Given the description of an element on the screen output the (x, y) to click on. 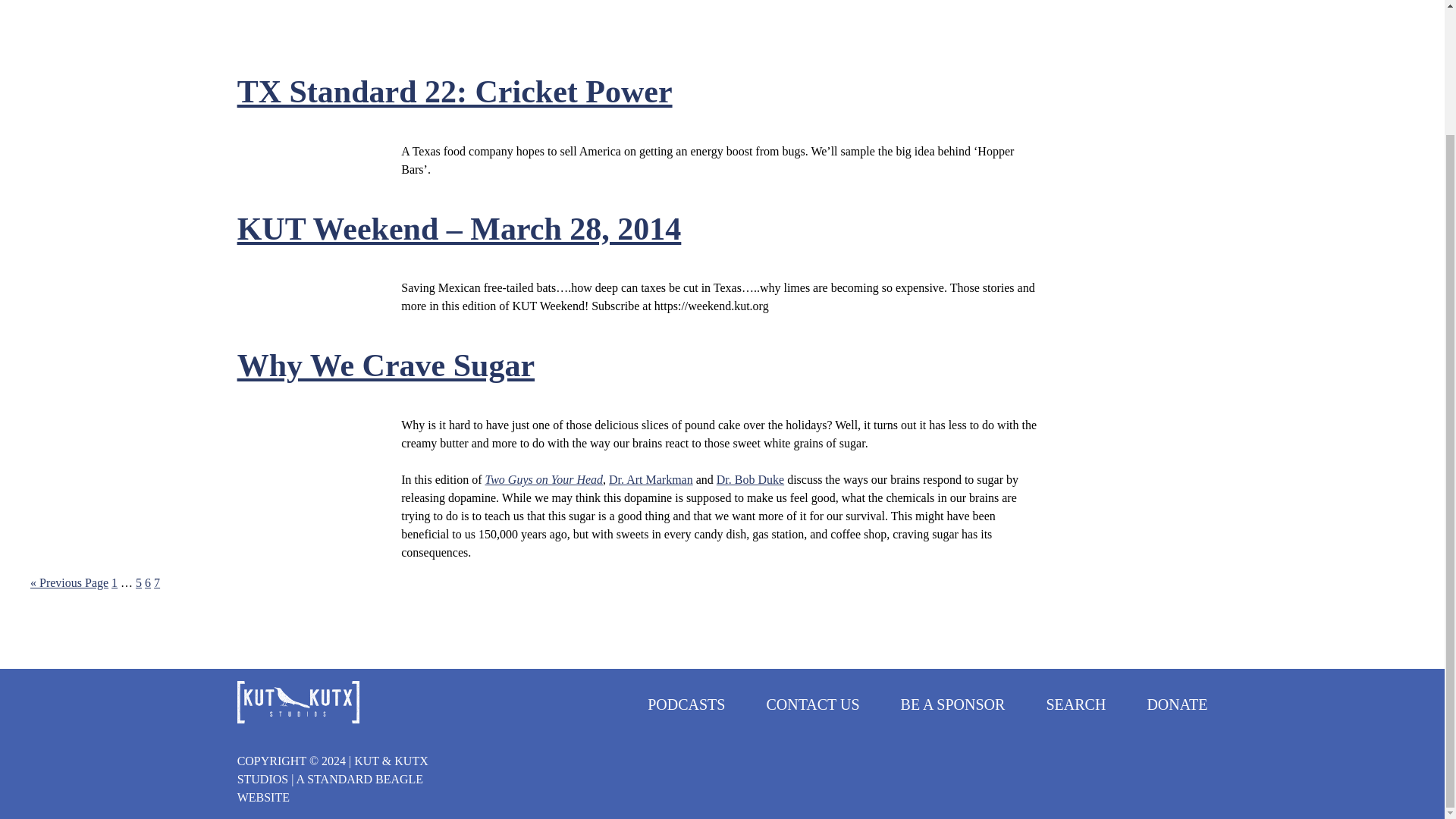
Dr. Bob Duke (147, 582)
TX Standard 22: Cricket Power (750, 479)
SEARCH (157, 582)
BE A SPONSOR (454, 91)
PODCASTS (1075, 704)
DONATE (114, 582)
Two Guys on Your Head (953, 704)
Why We Crave Sugar (138, 582)
CONTACT US (686, 704)
Dr. Art Markman (1177, 704)
